Given the description of an element on the screen output the (x, y) to click on. 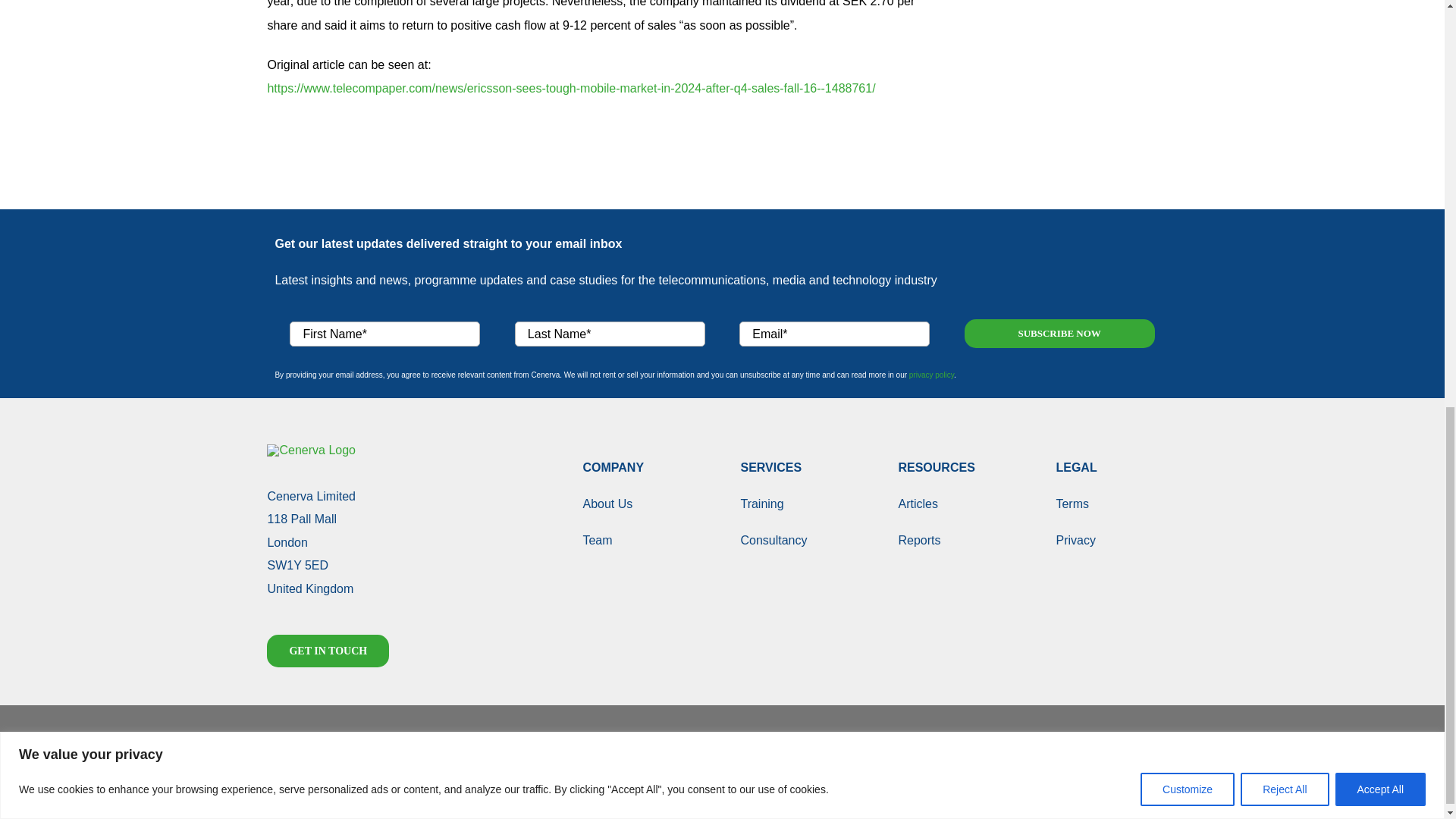
SUBSCRIBE NOW (721, 325)
